Given the description of an element on the screen output the (x, y) to click on. 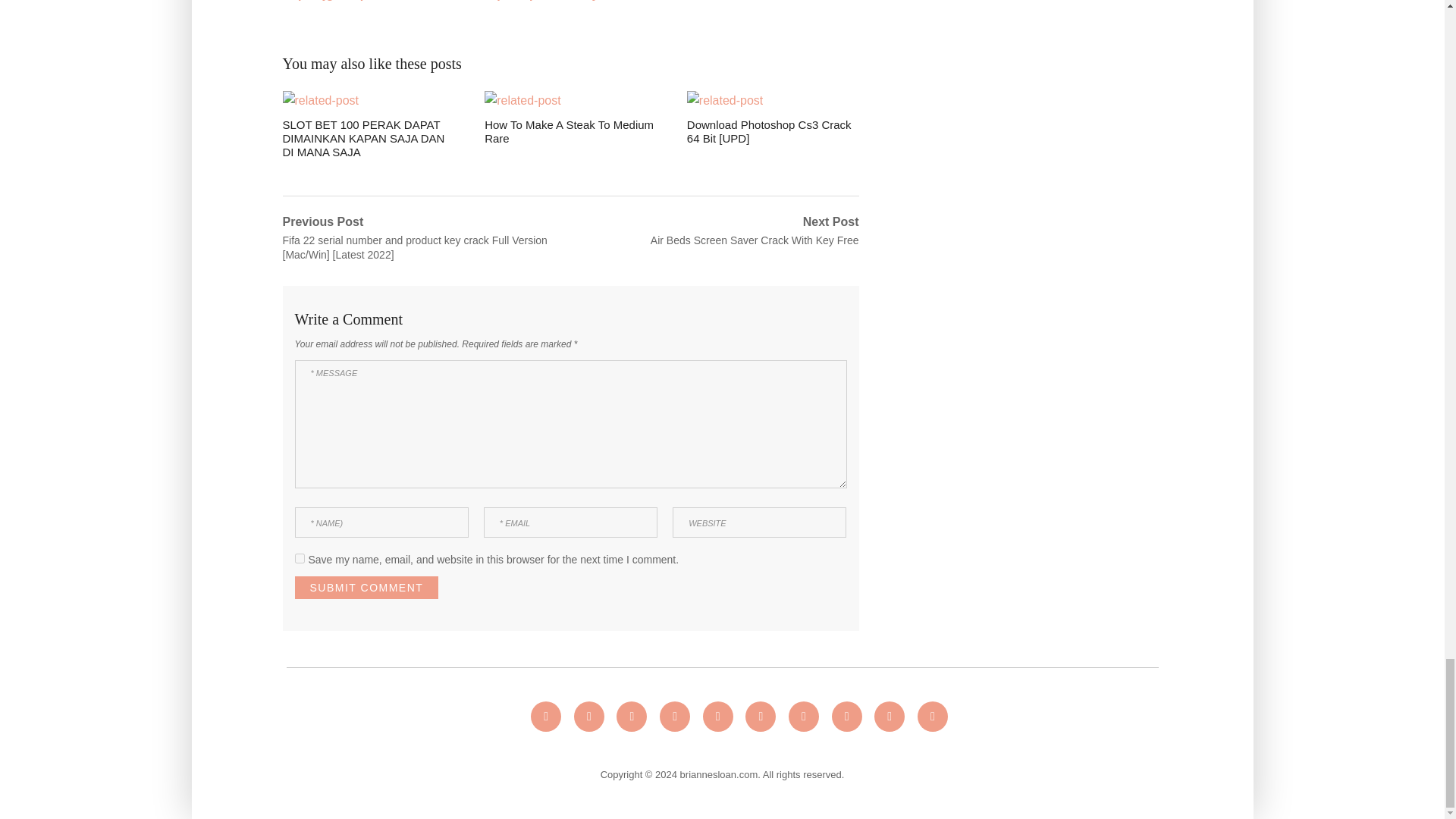
Submit Comment (366, 587)
yes (299, 558)
How To Make A Steak To Medium Rare (570, 117)
